Given the description of an element on the screen output the (x, y) to click on. 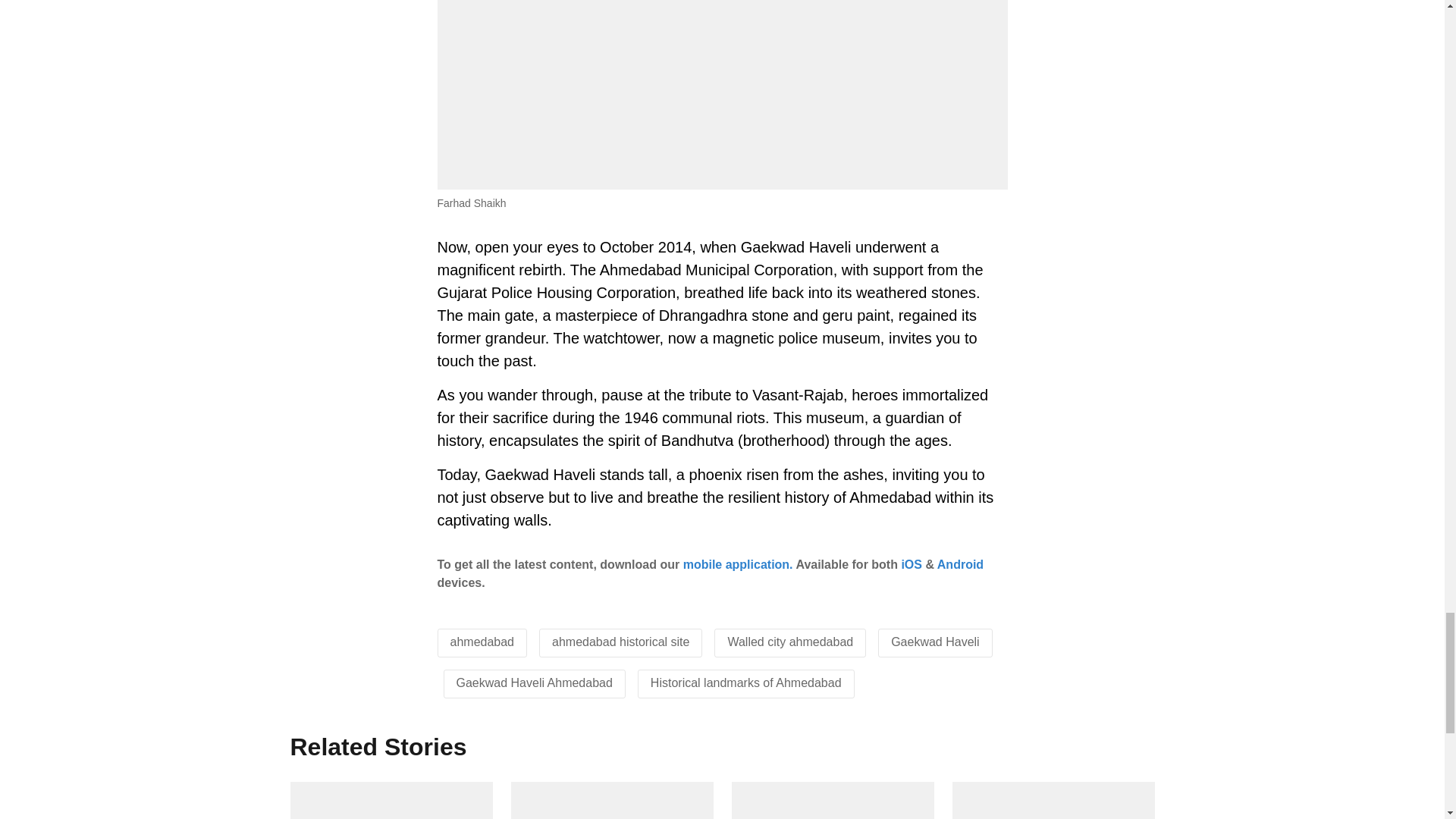
ahmedabad historical site (619, 641)
Gaekwad Haveli (935, 641)
mobile application. (737, 563)
Walled city ahmedabad (789, 641)
Historical landmarks of Ahmedabad (745, 682)
ahmedabad (482, 641)
Android (960, 563)
iOS (911, 563)
Gaekwad Haveli Ahmedabad (534, 682)
